Given the description of an element on the screen output the (x, y) to click on. 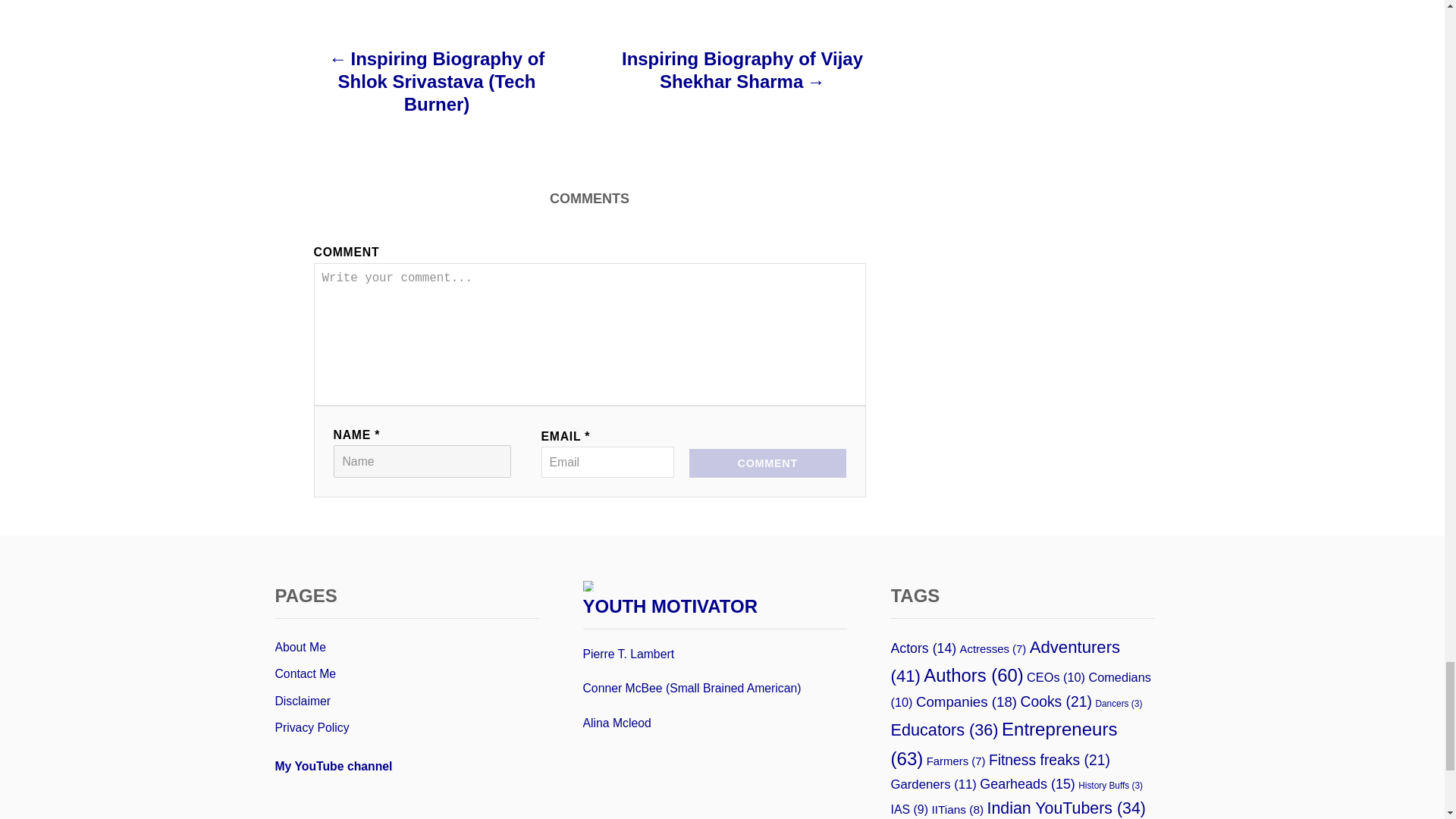
Contact Me (406, 673)
Privacy Policy (406, 728)
Inspiring Biography of Vijay Shekhar Sharma (741, 77)
COMMENT (766, 462)
About Me (406, 646)
Disclaimer (406, 700)
